Given the description of an element on the screen output the (x, y) to click on. 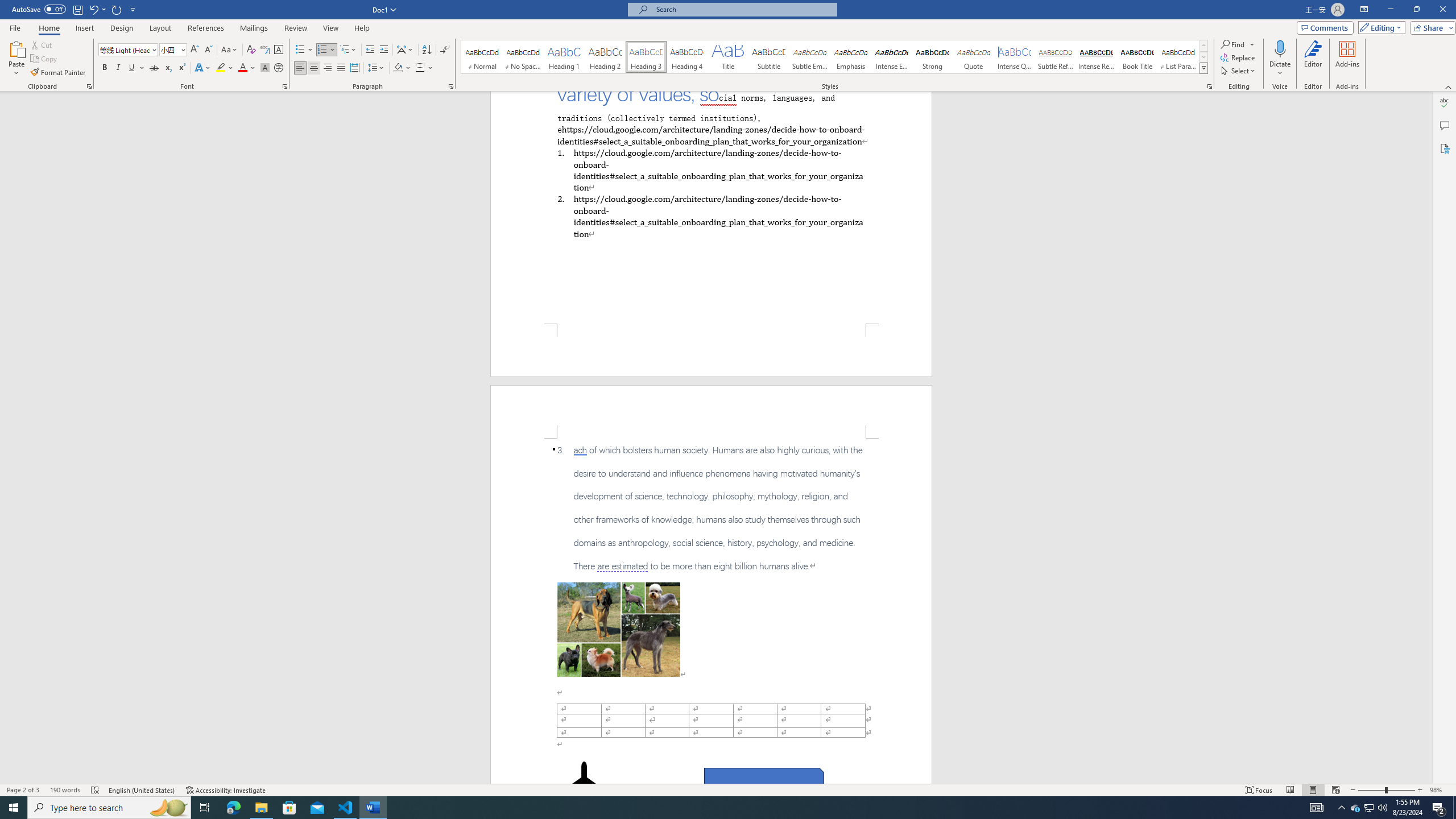
Undo Paragraph Alignment (92, 9)
